Given the description of an element on the screen output the (x, y) to click on. 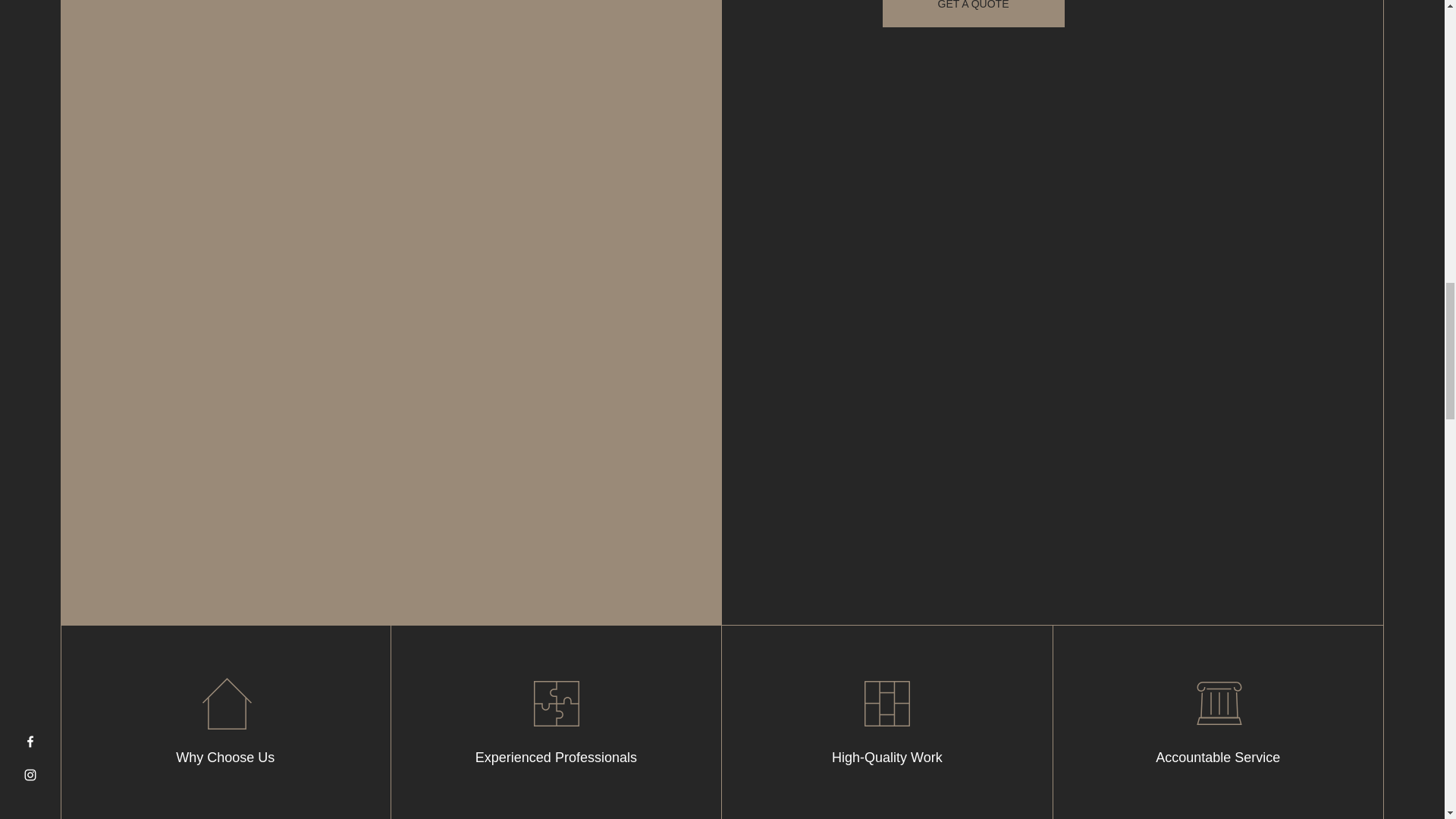
GET A QUOTE (973, 13)
